Given the description of an element on the screen output the (x, y) to click on. 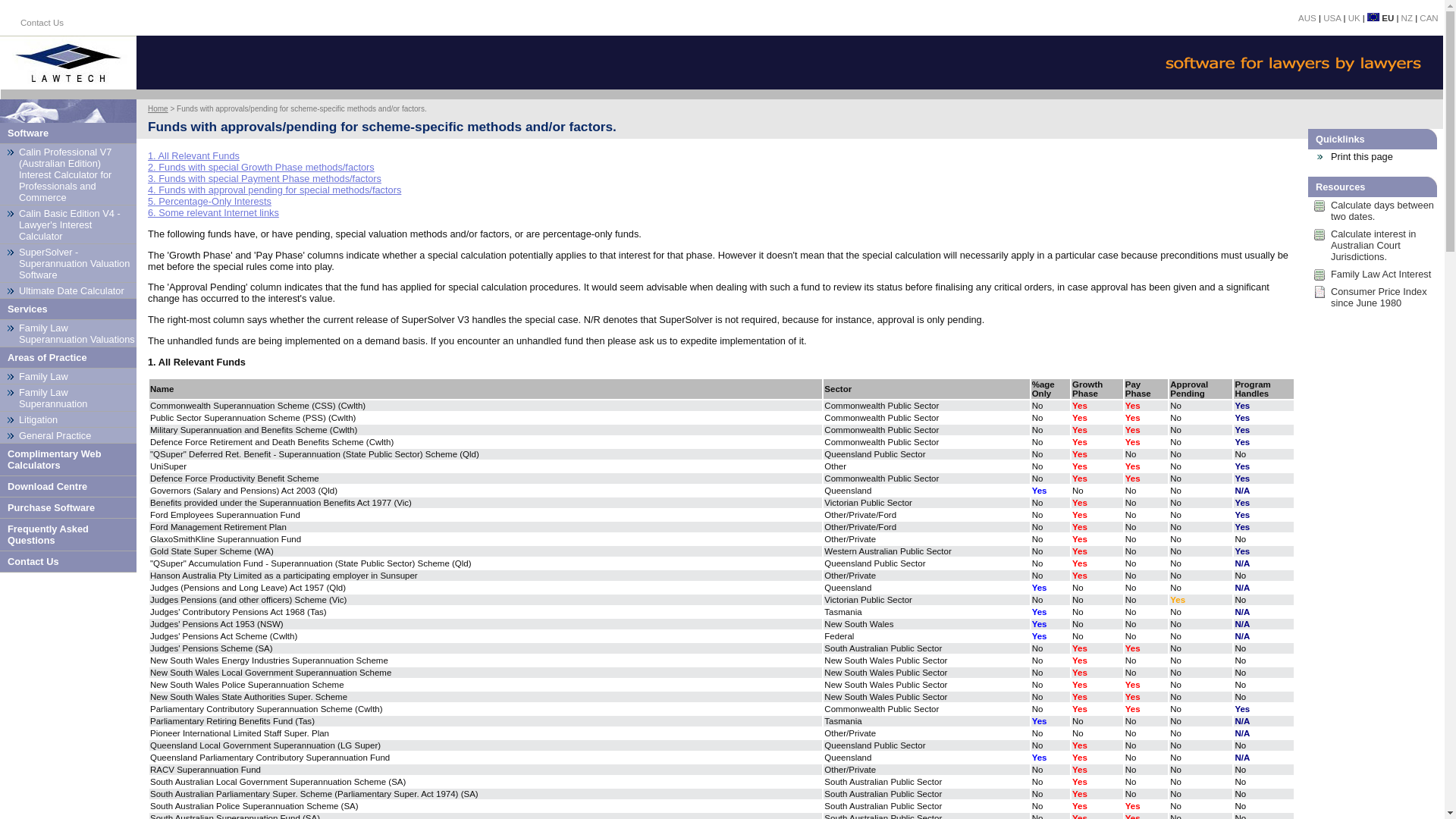
Services Element type: text (68, 309)
1. All Relevant Funds Element type: text (193, 155)
USA Element type: text (1331, 17)
s Element type: text (1372, 198)
NZ Element type: text (1406, 17)
5. Percentage-Only Interests Element type: text (209, 201)
Calculate interest in Australian Court Jurisdictions. Element type: text (1372, 248)
Areas of Practice Element type: text (68, 357)
General Practice Element type: text (68, 435)
CAN Element type: text (1428, 17)
Print this page Element type: text (1372, 157)
Software Element type: text (68, 133)
Ultimate Date Calculator Element type: text (68, 290)
Calculate days between two dates. Element type: text (1372, 213)
Family Law Superannuation Valuations Element type: text (68, 333)
Family Law Element type: text (68, 376)
Family Law Superannuation Element type: text (68, 397)
Family Law Act Interest Element type: text (1372, 276)
Frequently Asked Questions Element type: text (68, 534)
2. Funds with special Growth Phase methods/factors Element type: text (260, 166)
UK Element type: text (1354, 17)
Home Element type: text (157, 108)
Litigation Element type: text (68, 419)
Purchase Software Element type: text (68, 507)
Contact Us Element type: text (68, 31)
Calin Basic Edition V4 - Lawyer's Interest Calculator Element type: text (68, 224)
3. Funds with special Payment Phase methods/factors Element type: text (264, 178)
Consumer Price Index since June 1980 Element type: text (1372, 299)
SuperSolver - Superannuation Valuation Software Element type: text (68, 263)
6. Some relevant Internet links Element type: text (213, 212)
Complimentary Web Calculators Element type: text (68, 459)
4. Funds with approval pending for special methods/factors Element type: text (274, 189)
EU Element type: text (1380, 17)
AUS Element type: text (1307, 17)
Download Centre Element type: text (68, 486)
Contact Us Element type: text (68, 561)
